Given the description of an element on the screen output the (x, y) to click on. 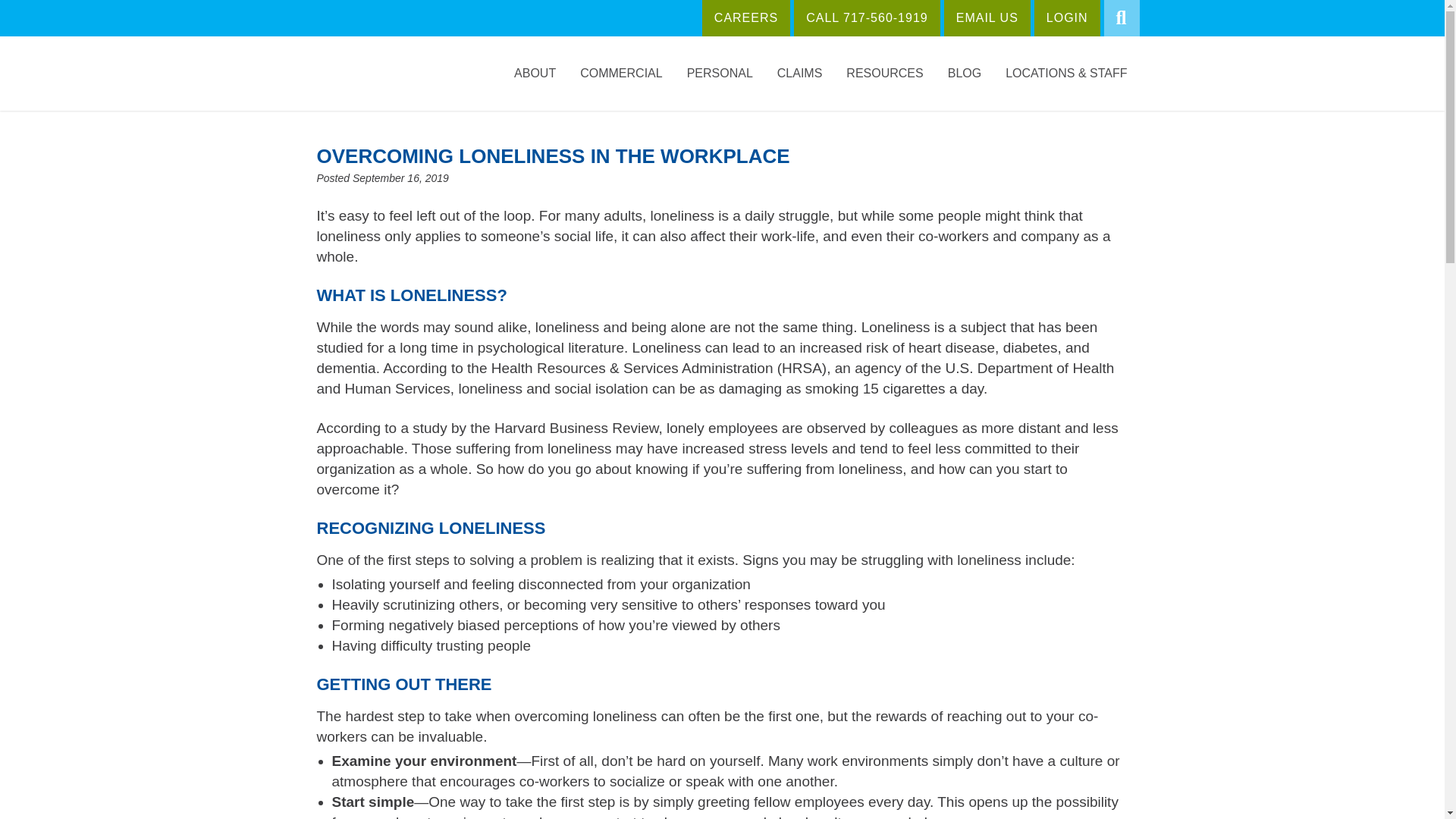
CAREERS (745, 18)
LOGIN (1066, 18)
EMAIL US (986, 18)
RESOURCES (884, 73)
COMMERCIAL (620, 73)
PERSONAL (720, 73)
Horst Insurance (383, 104)
CLAIMS (799, 73)
